Given the description of an element on the screen output the (x, y) to click on. 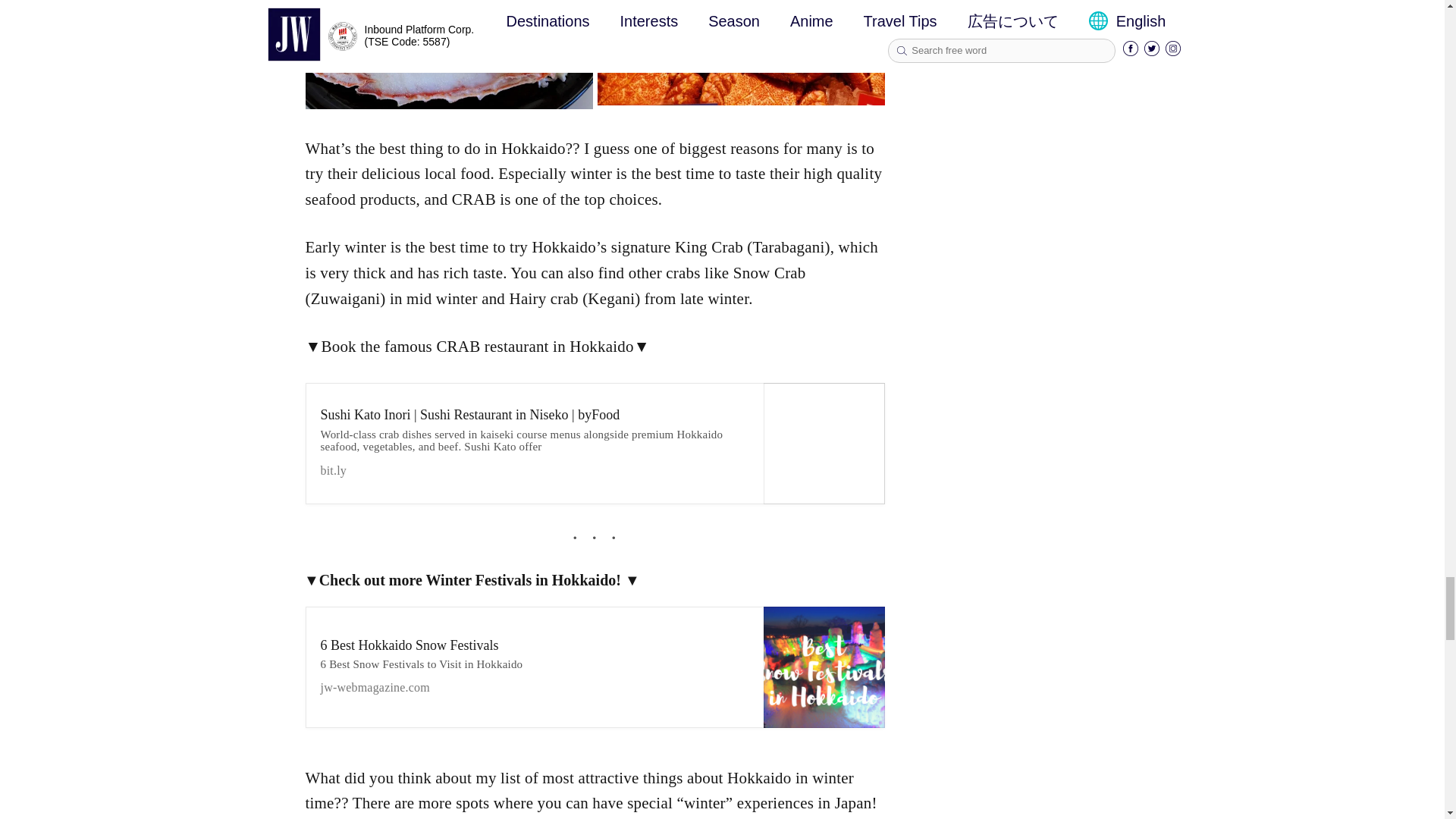
6 Best Hokkaido Snow Festivals (822, 667)
6 Best Hokkaido Snow Festivals (533, 666)
